Given the description of an element on the screen output the (x, y) to click on. 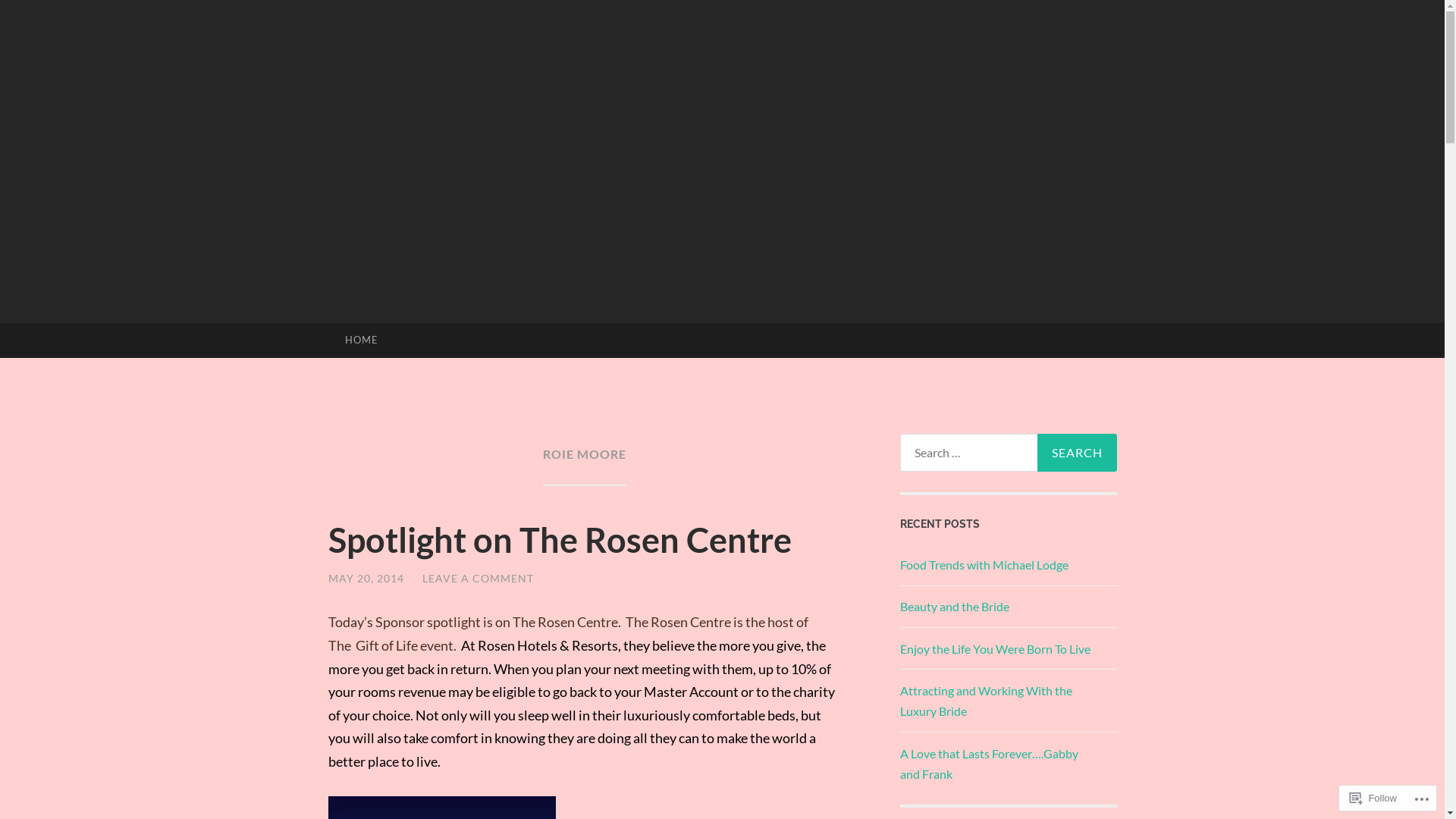
Follow Element type: text (1372, 797)
HOME Element type: text (360, 340)
LEAVE A COMMENT Element type: text (477, 577)
Beauty and the Bride Element type: text (953, 606)
Search Element type: text (1077, 452)
Food Trends with Michael Lodge Element type: text (983, 564)
Enjoy the Life You Were Born To Live Element type: text (994, 648)
Spotlight on The Rosen Centre Element type: text (558, 539)
27 MIRACLES BLOG Element type: text (768, 302)
Attracting and Working With the Luxury Bride Element type: text (985, 700)
MAY 20, 2014 Element type: text (365, 577)
